Given the description of an element on the screen output the (x, y) to click on. 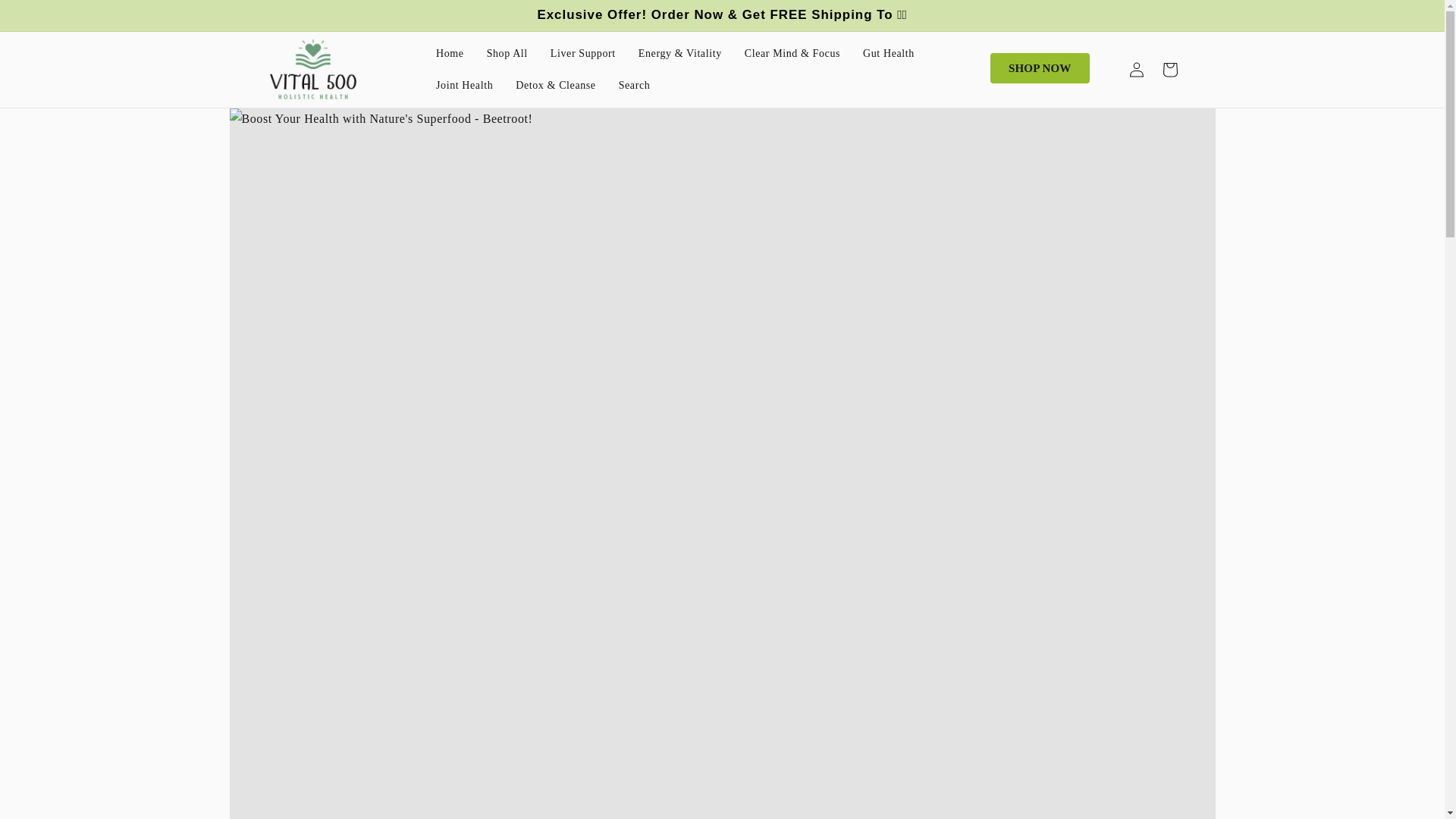
Log in (1136, 69)
Search (634, 85)
Cart (1169, 69)
SKIP TO CONTENT (45, 14)
Gut Health (888, 53)
Shop All (507, 53)
SHOP NOW (1039, 68)
Liver Support (582, 53)
Joint Health (464, 85)
Home (450, 53)
